Given the description of an element on the screen output the (x, y) to click on. 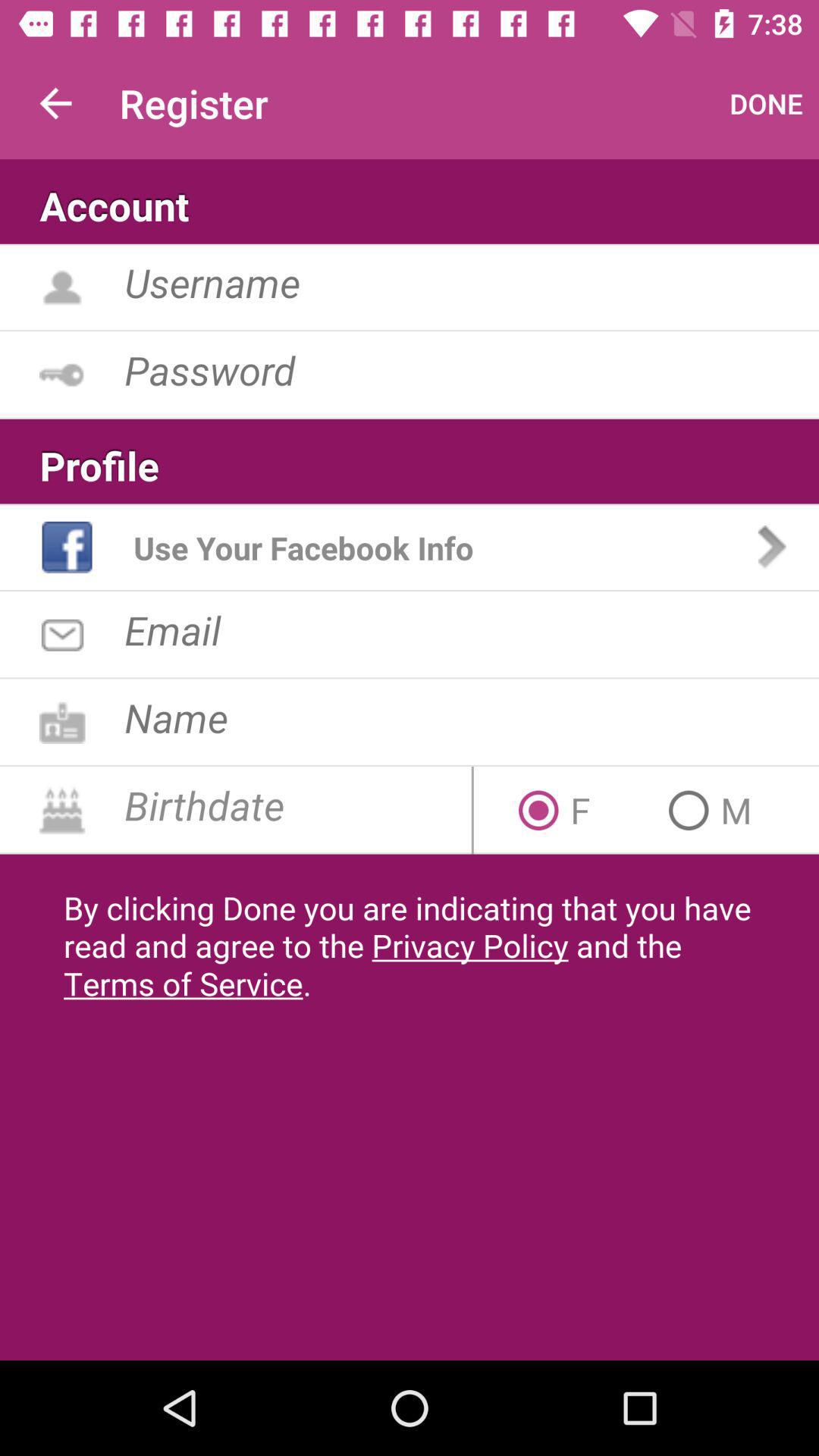
fill username (471, 281)
